Given the description of an element on the screen output the (x, y) to click on. 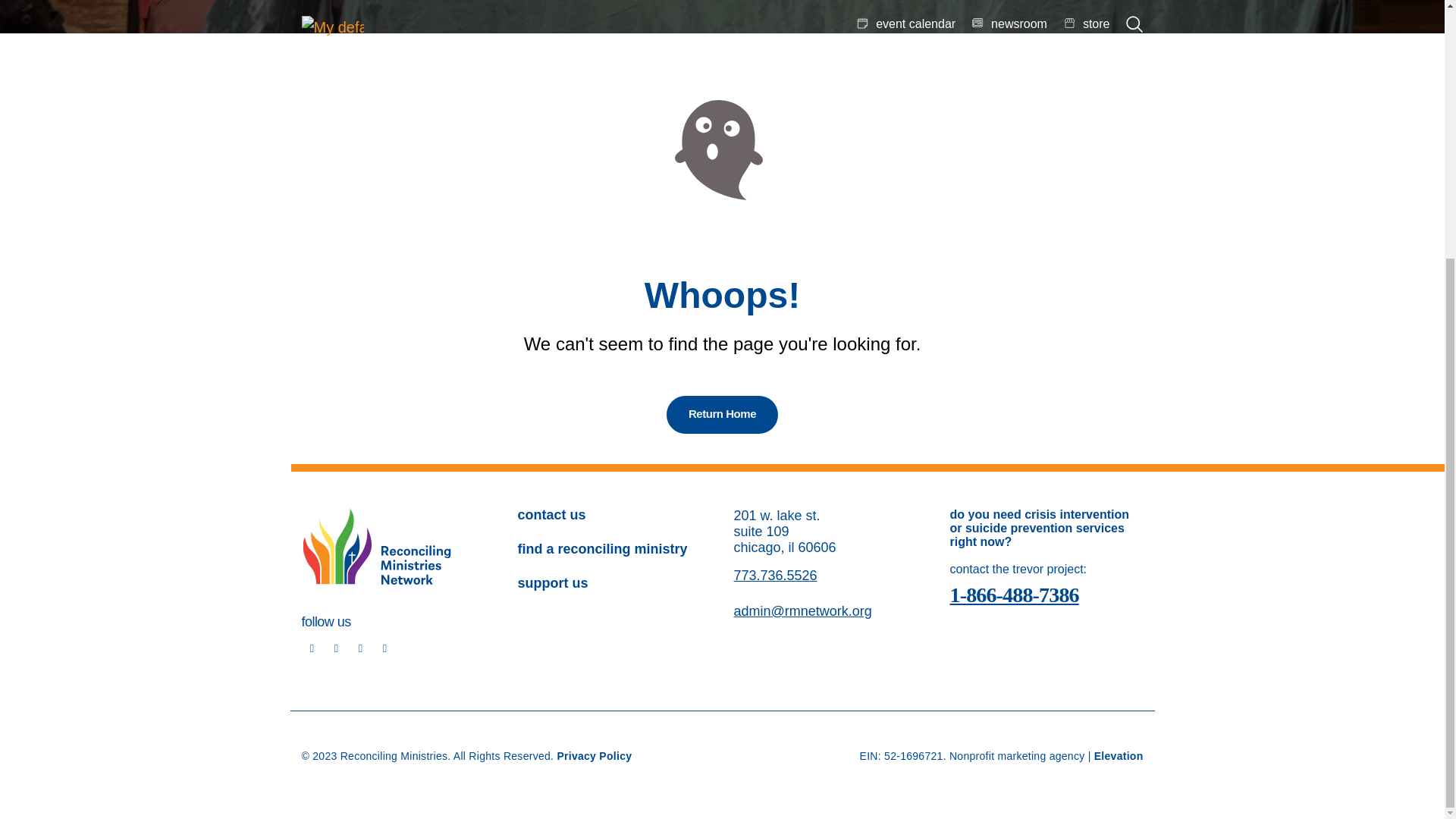
Return Home (721, 414)
social (312, 648)
